Given the description of an element on the screen output the (x, y) to click on. 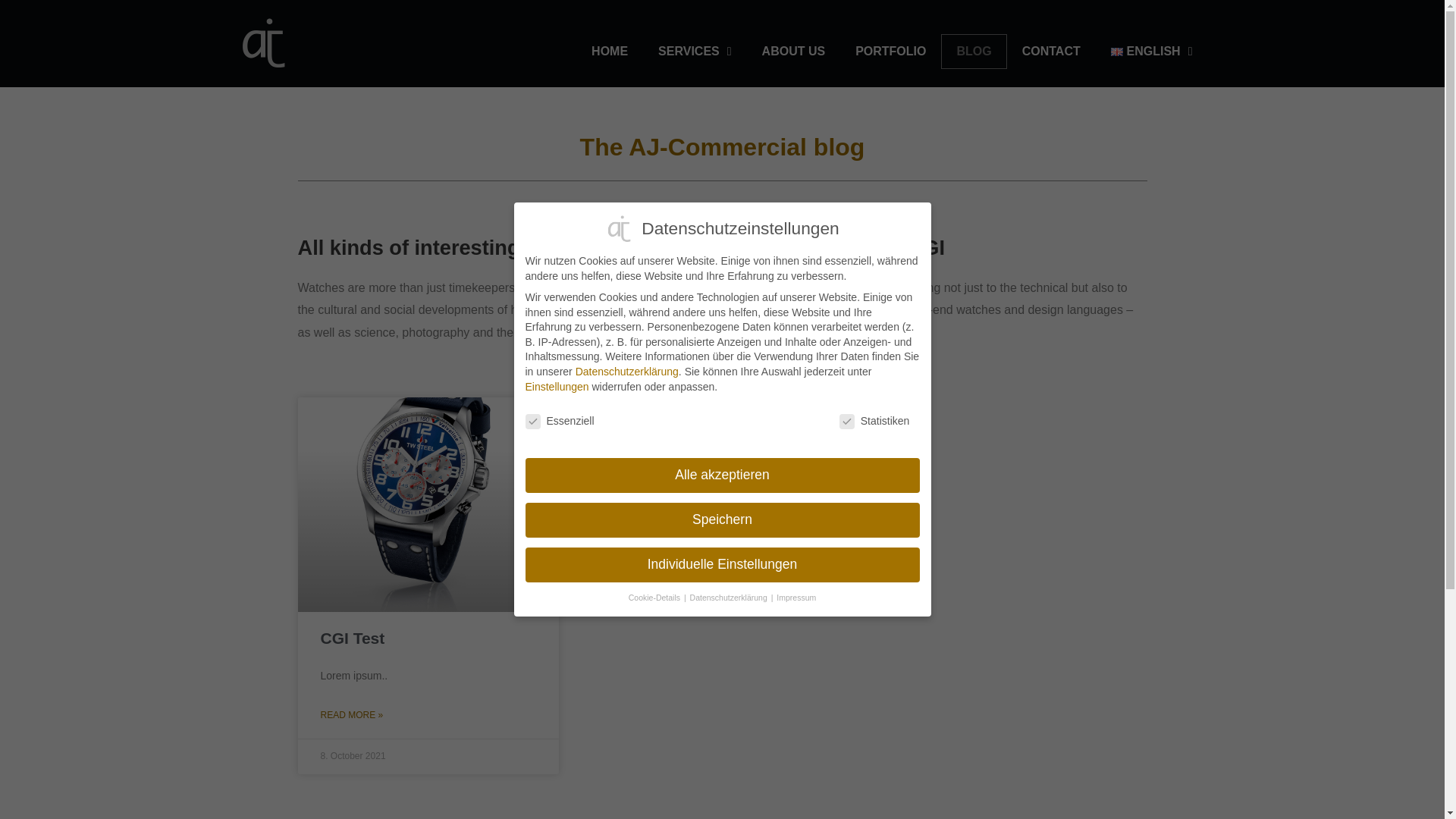
Alle akzeptieren (721, 475)
CGI Test (352, 638)
ABOUT US (793, 51)
SERVICES (694, 51)
Einstellungen (556, 386)
PORTFOLIO (890, 51)
BLOG (973, 51)
CONTACT (1051, 51)
Cookie-Details (655, 596)
ENGLISH (1152, 51)
